Given the description of an element on the screen output the (x, y) to click on. 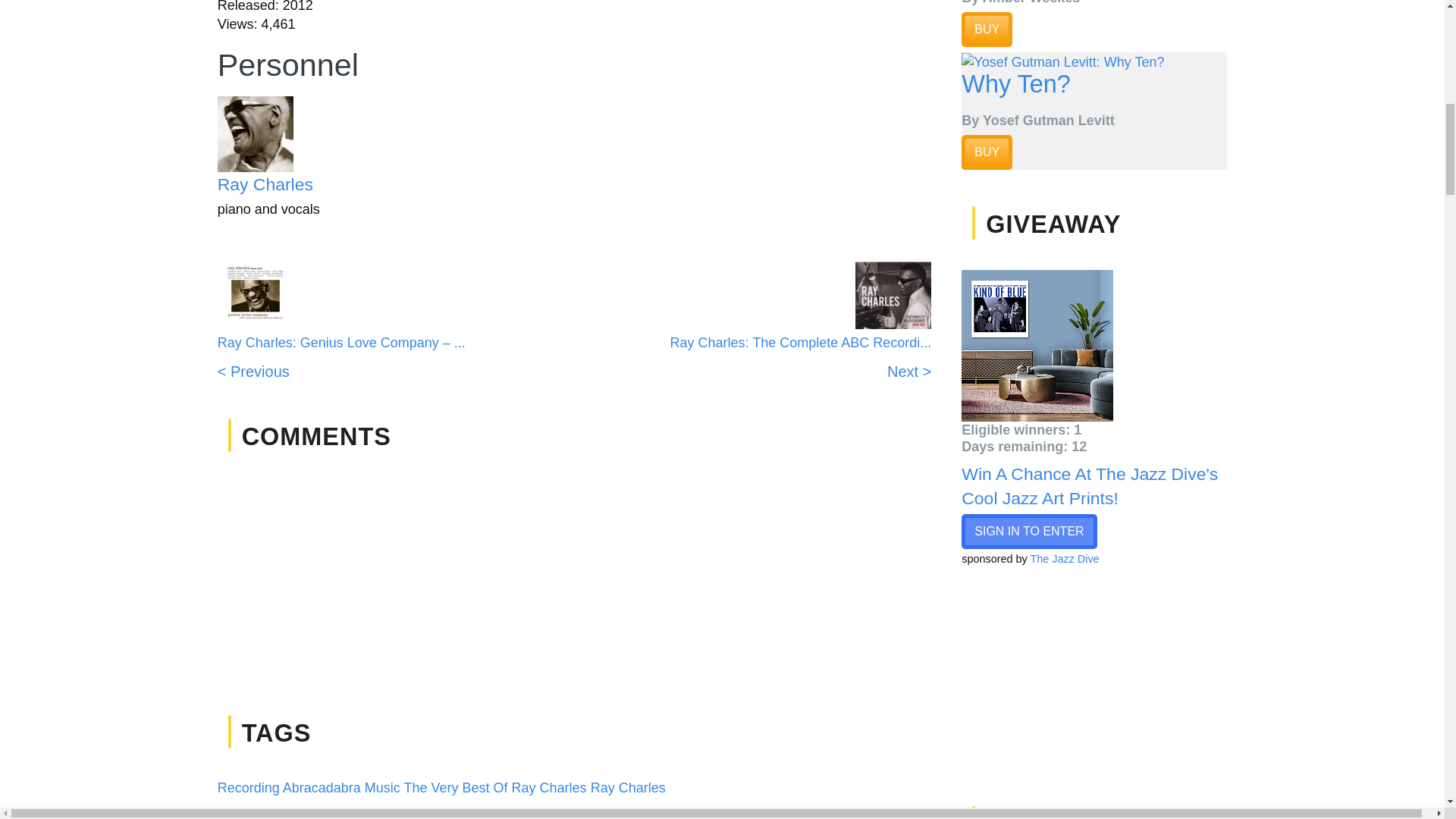
Ray Charles (628, 787)
The Very Best Of Ray Charles (495, 787)
Visit Ray Charles at All About Jazz (264, 184)
Abracadabra Music (341, 787)
TAGS (276, 733)
Recording (247, 787)
All About Jazz Tags Center (276, 733)
Visit Ray Charles at All About Jazz (304, 133)
Return to previous album (340, 361)
Forward to next album (800, 361)
